Given the description of an element on the screen output the (x, y) to click on. 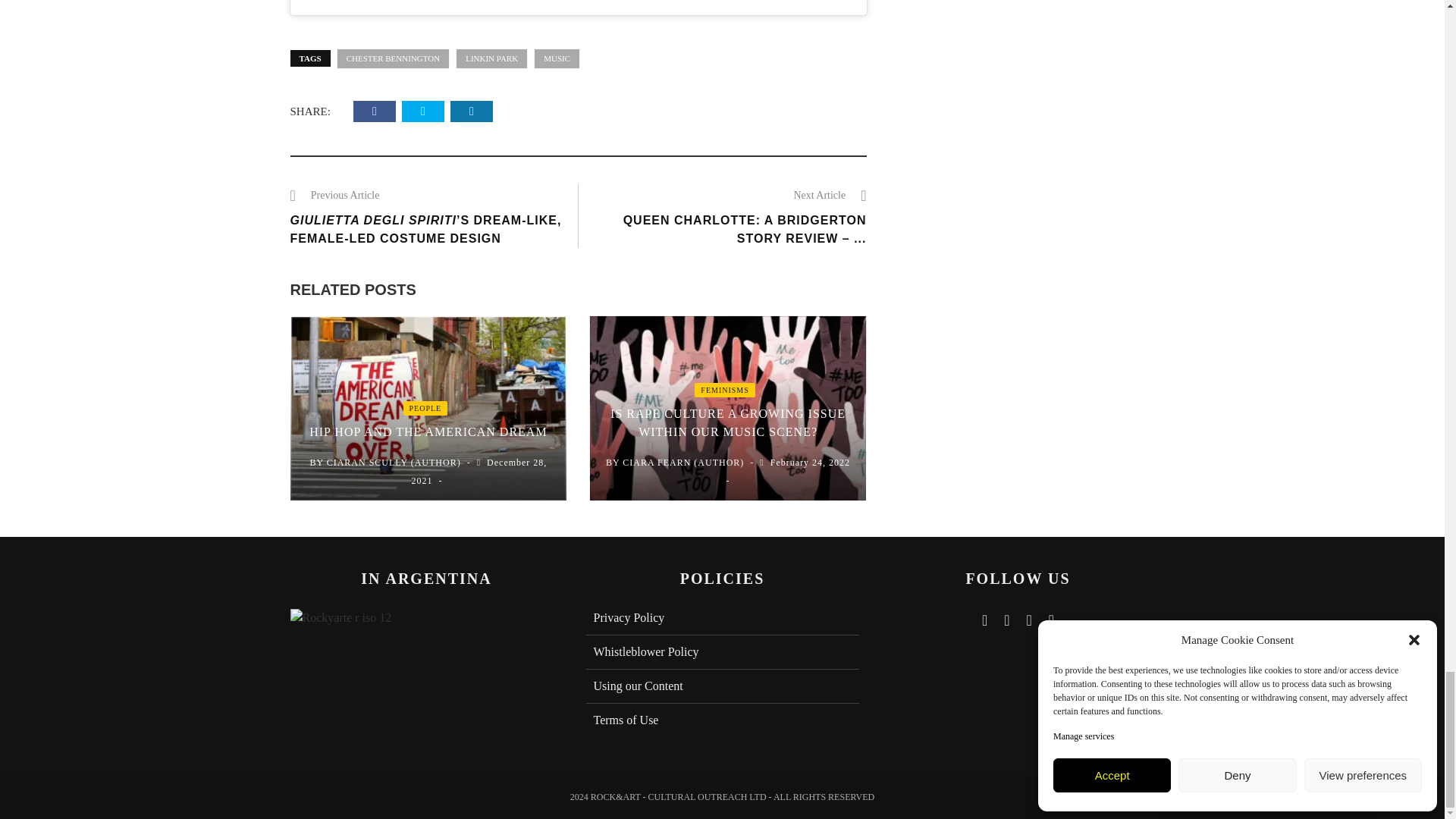
View all posts tagged Music (556, 58)
View all posts tagged Linkin Park (491, 58)
View all posts tagged Chester Bennington (392, 58)
